Given the description of an element on the screen output the (x, y) to click on. 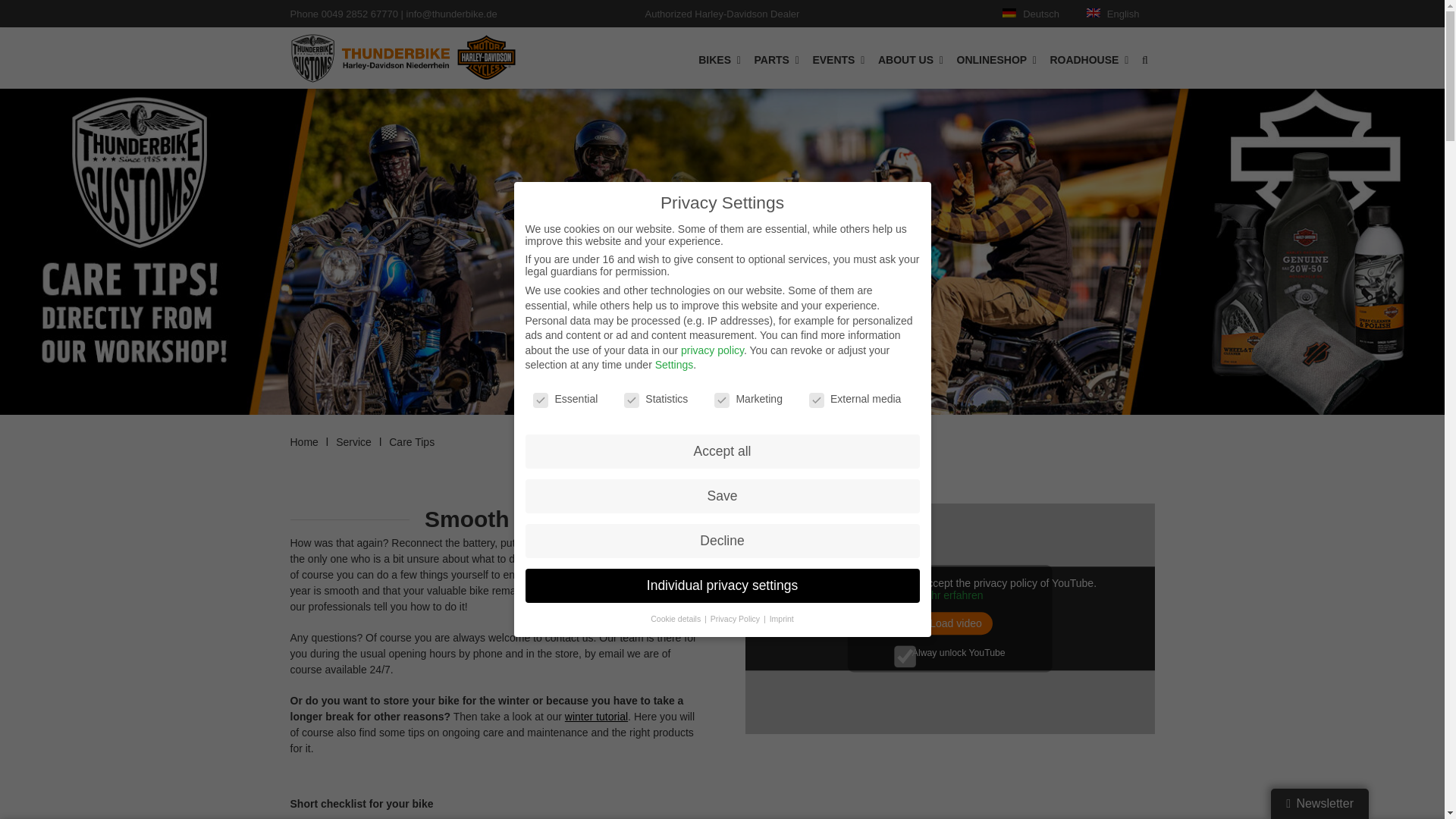
Deutsch (1036, 13)
BIKES   (718, 58)
EVENTS   (839, 58)
Service (353, 441)
Deutsch (1036, 13)
PARTS   (777, 58)
English (1118, 13)
Zur Startseite (402, 57)
English (1118, 13)
